Given the description of an element on the screen output the (x, y) to click on. 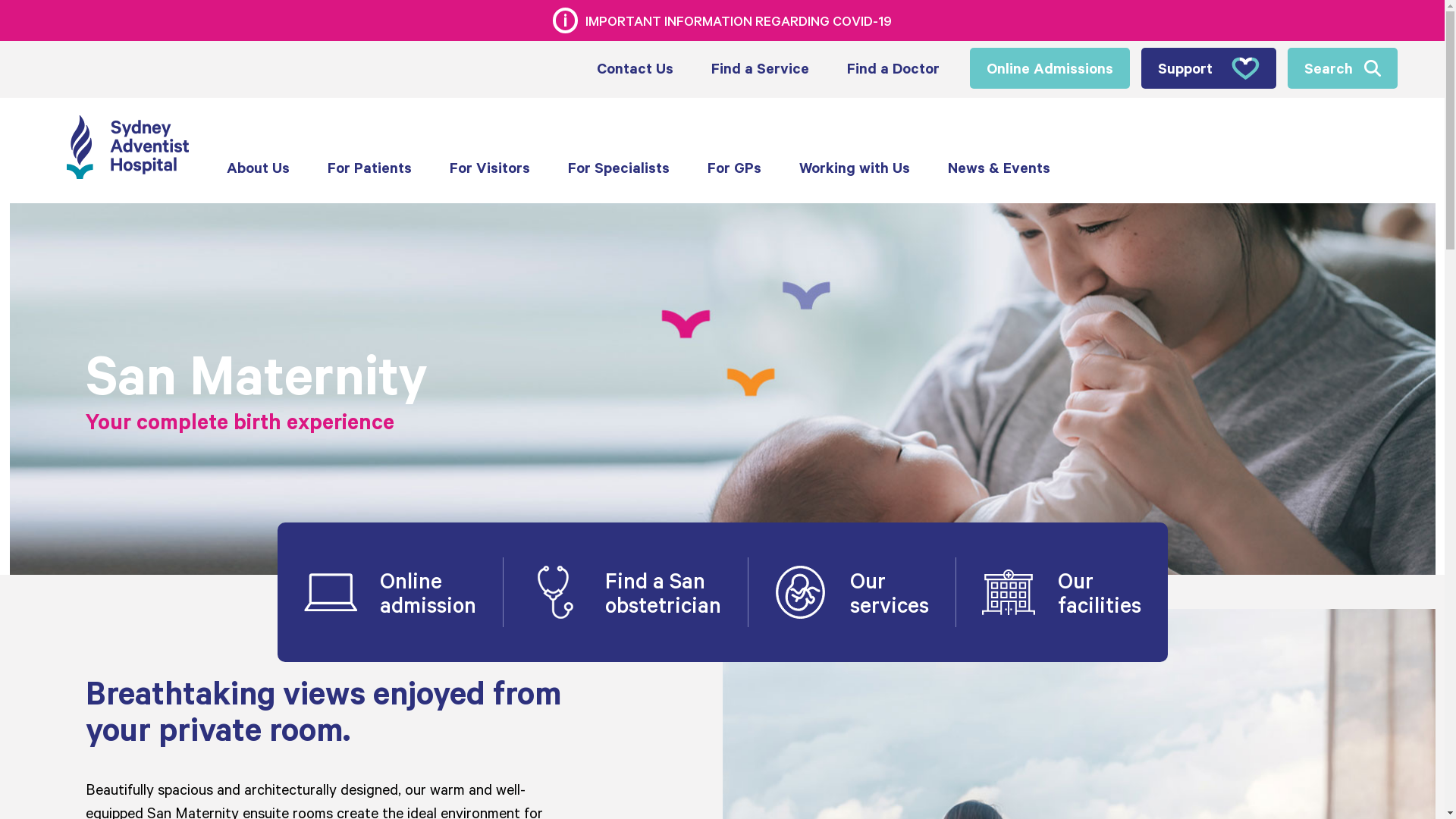
Find a Doctor Element type: text (893, 68)
About Us Element type: text (257, 167)
Find a Service Element type: text (759, 68)
Working with Us Element type: text (854, 167)
For Specialists Element type: text (618, 167)
Our
facilities Element type: text (1061, 592)
For GPs Element type: text (734, 167)
Our
services Element type: text (851, 592)
Find a San
obstetrician Element type: text (624, 592)
IMPORTANT INFORMATION REGARDING COVID-19 Element type: text (721, 20)
Online Admissions Element type: text (1049, 68)
Online
admission Element type: text (389, 592)
Search Element type: text (1342, 68)
News & Events Element type: text (998, 167)
Support Element type: text (1207, 68)
Contact Us Element type: text (634, 68)
For Visitors Element type: text (489, 167)
For Patients Element type: text (369, 167)
